Given the description of an element on the screen output the (x, y) to click on. 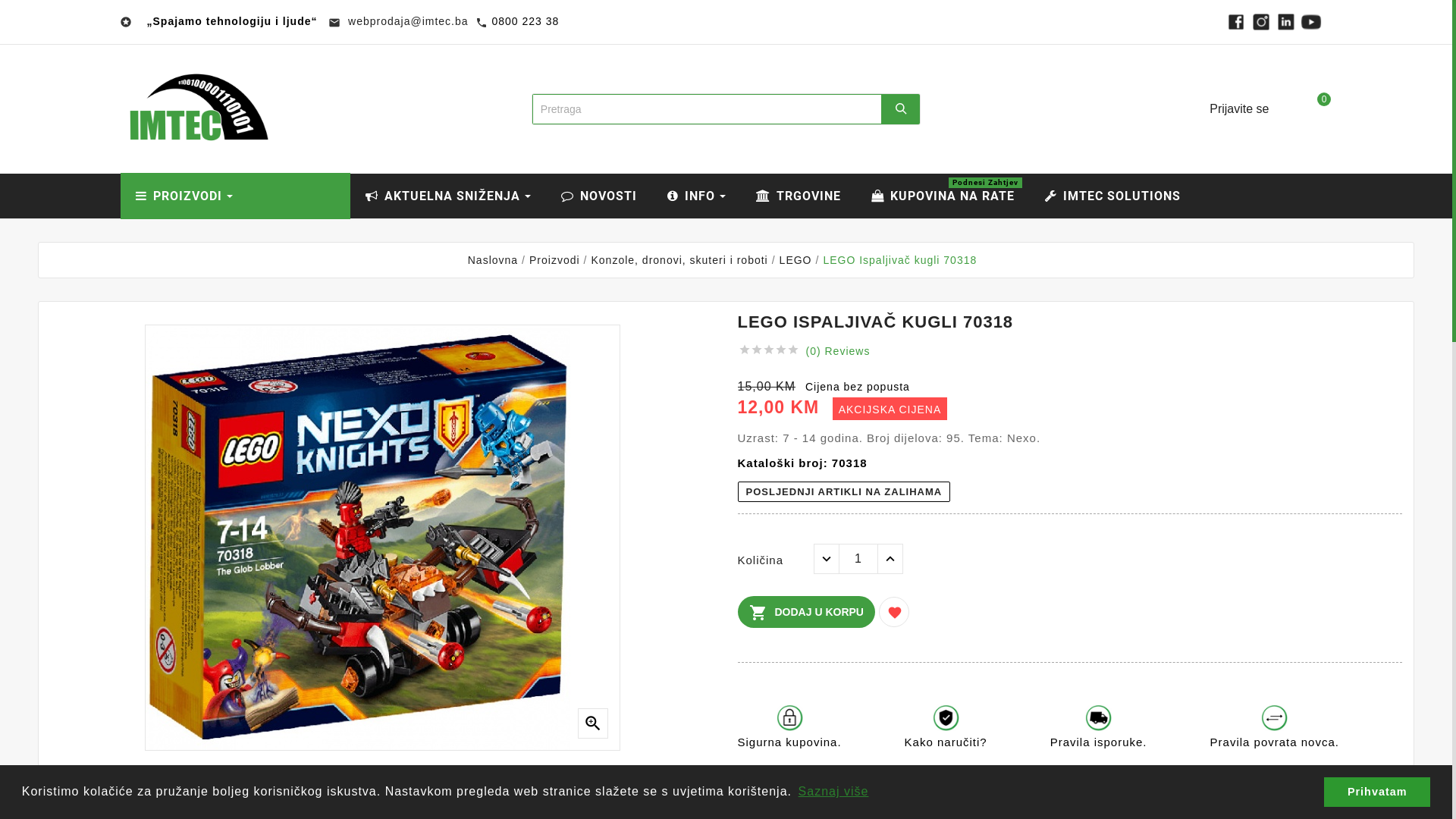
Konzole, dronovi, skuteri i roboti Element type: text (678, 260)
webprodaja@imtec.ba Element type: text (405, 21)
PROIZVODI Element type: text (234, 195)
KUPOVINA NA RATE
Podnesi Zahtjev Element type: text (942, 195)
Naslovna Element type: text (492, 260)
  Pravila isporuke. Element type: text (1098, 734)
0 Element type: text (1311, 109)
  Pravila povrata novca. Element type: text (1274, 734)
LEGO Element type: text (795, 260)
Prihvatam Element type: text (1377, 791)
INFO Element type: text (696, 195)
IMTEC SOLUTIONS Element type: text (1112, 195)
NOVOSTI Element type: text (599, 195)
TRGOVINE Element type: text (797, 195)
Proizvodi Element type: text (554, 260)
